Given the description of an element on the screen output the (x, y) to click on. 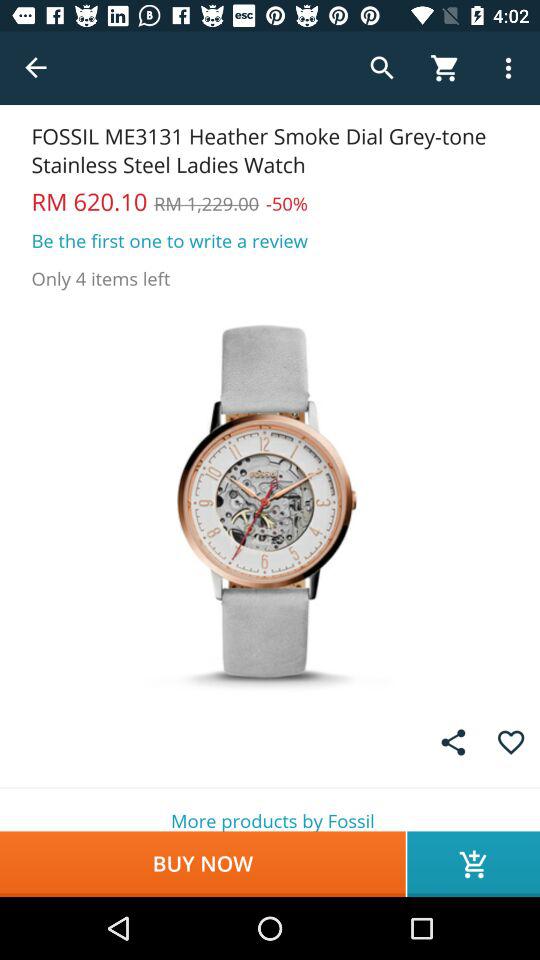
share the product (453, 742)
